Given the description of an element on the screen output the (x, y) to click on. 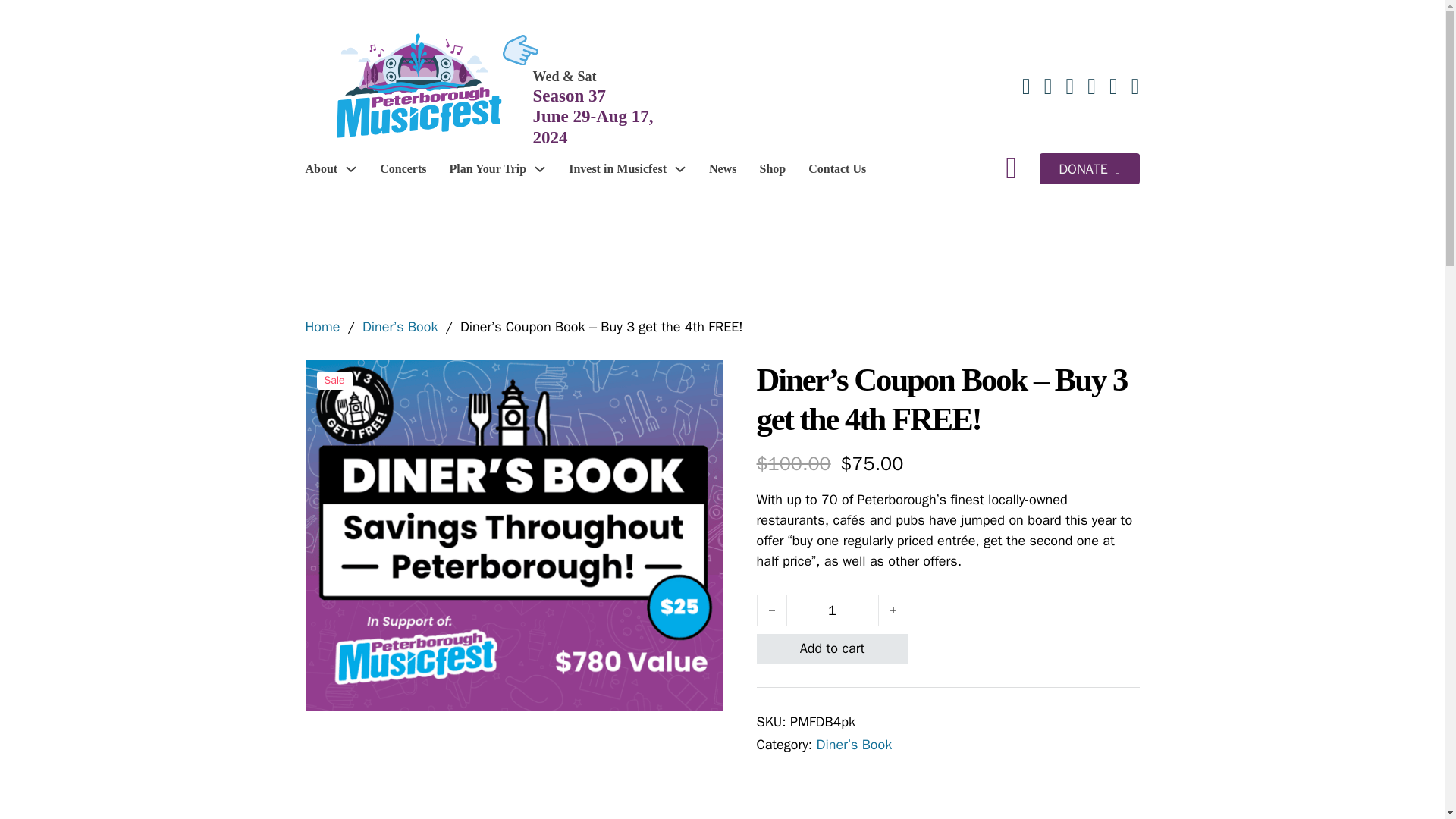
Concerts (403, 168)
Shop (772, 168)
Plan Your Trip (486, 168)
1 (832, 610)
About (320, 168)
Contact Us (837, 168)
Invest in Musicfest (617, 168)
News (722, 168)
